Given the description of an element on the screen output the (x, y) to click on. 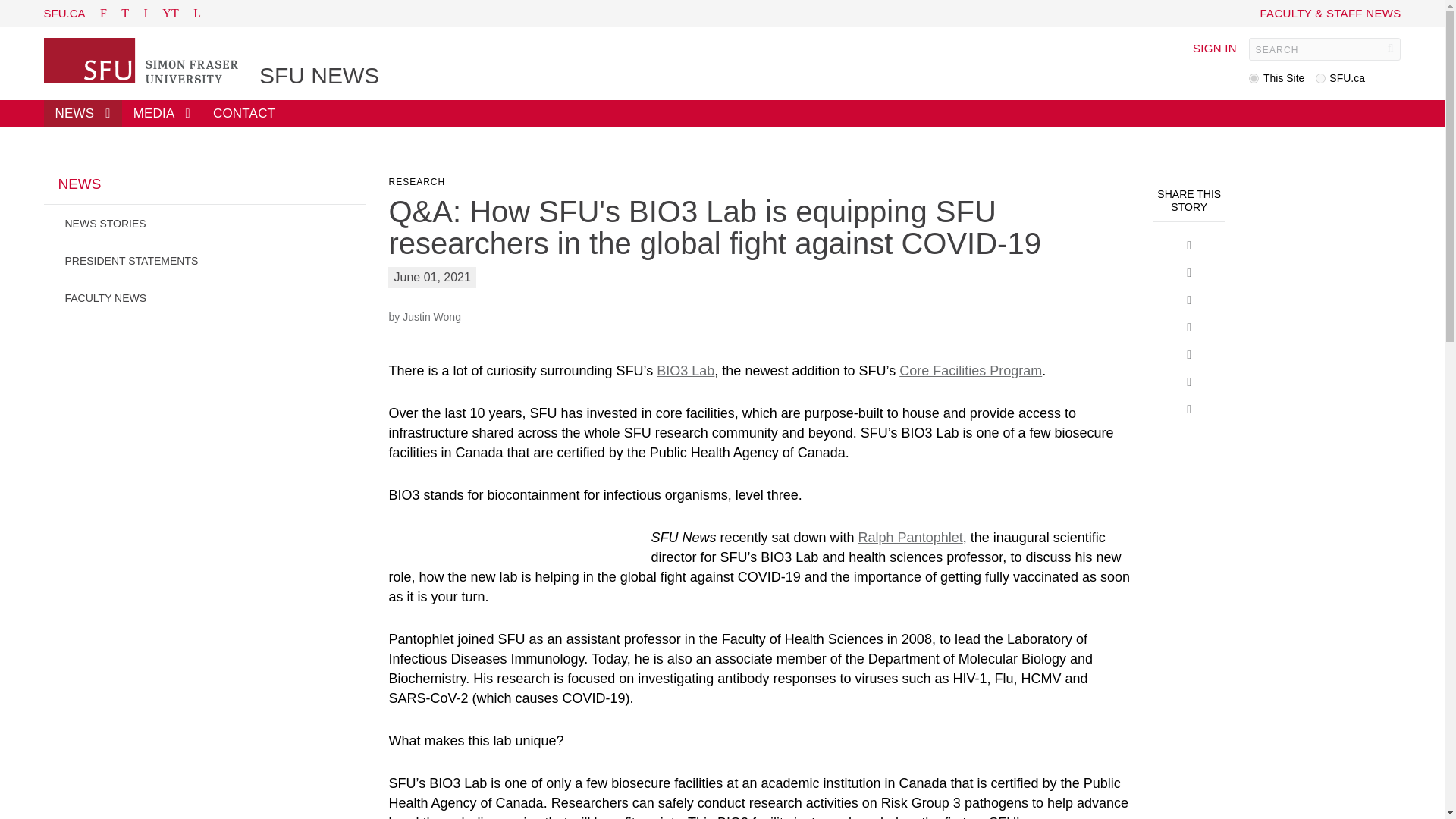
NEWS (204, 190)
MEDIA (162, 112)
SFU NEWS (318, 75)
BIO3 Lab (685, 370)
FACULTY NEWS (204, 297)
SFU.CA (64, 11)
Core Facilities Program (970, 370)
NEWS STORIES (204, 222)
YT (169, 11)
sfu (1320, 78)
